Given the description of an element on the screen output the (x, y) to click on. 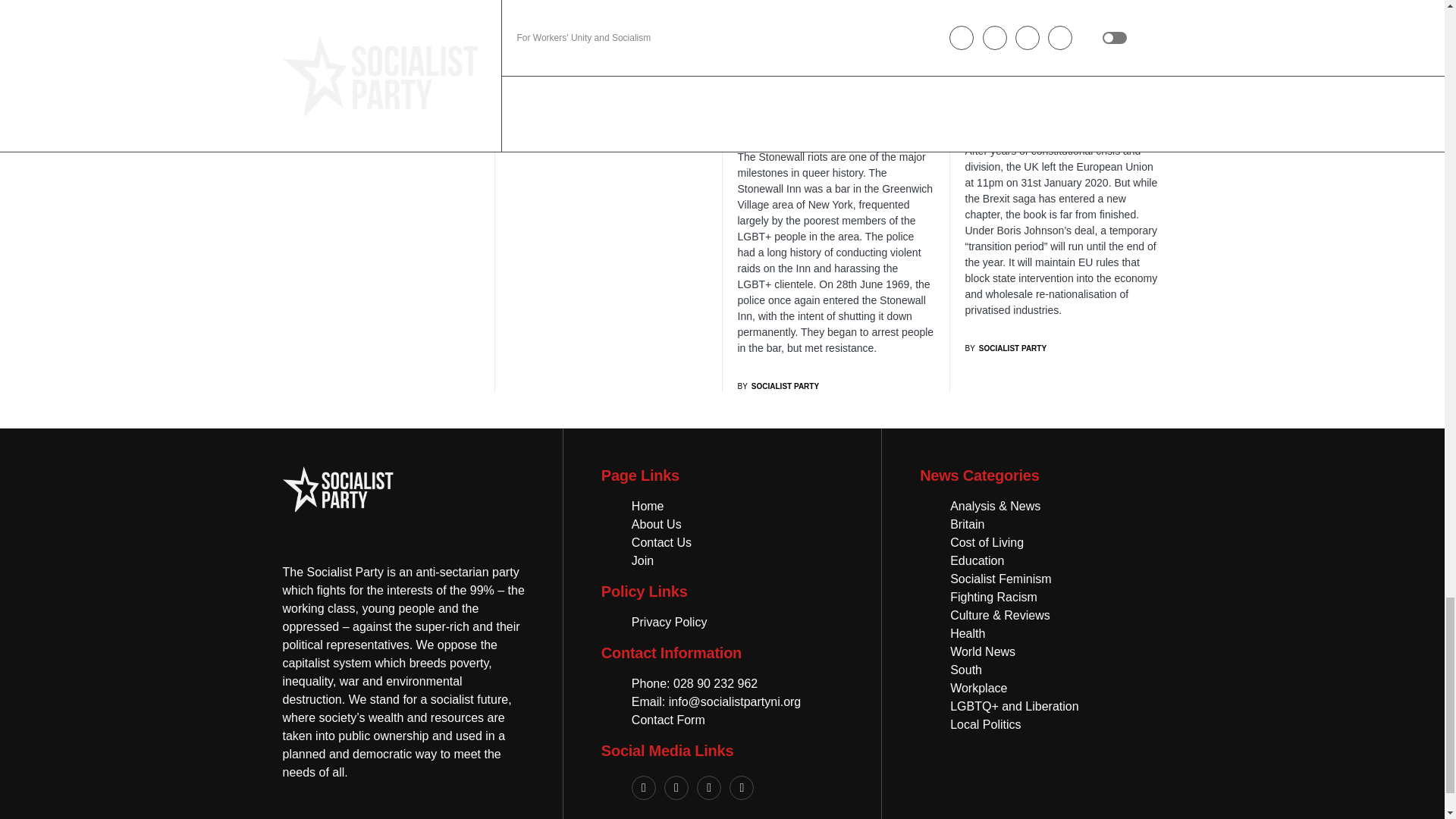
View all posts by Socialist Party (1004, 348)
View all posts by Archive (533, 30)
View all posts by Archive (306, 37)
View all posts by Socialist Party (777, 386)
